Given the description of an element on the screen output the (x, y) to click on. 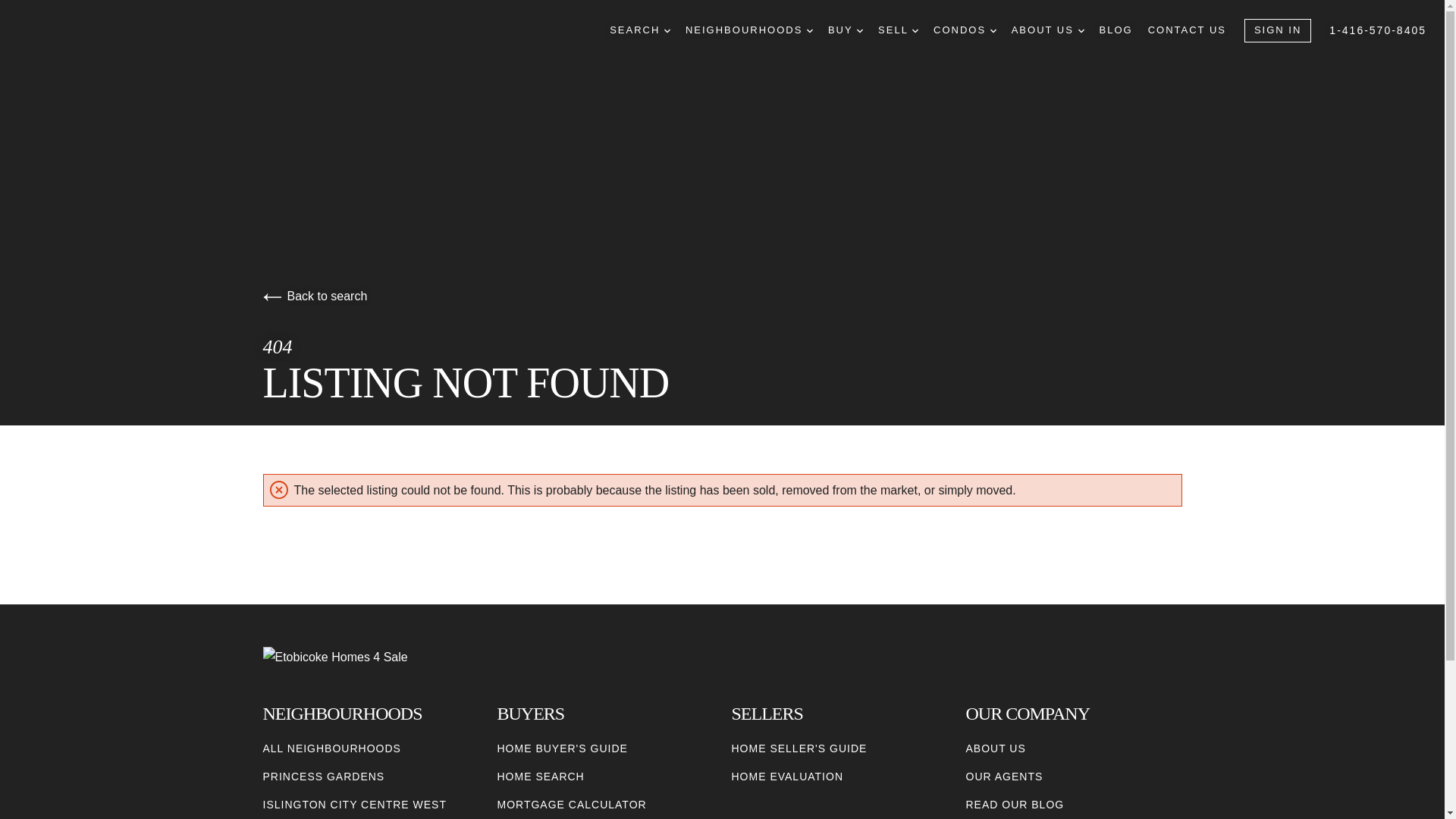
SEARCH DROPDOWN ARROW (639, 30)
BUY DROPDOWN ARROW (845, 30)
DROPDOWN ARROW (1081, 30)
DROPDOWN ARROW (992, 30)
DROPDOWN ARROW (915, 30)
DROPDOWN ARROW (666, 30)
NEIGHBOURHOODS DROPDOWN ARROW (748, 30)
DROPDOWN ARROW (860, 30)
DROPDOWN ARROW (809, 30)
